Given the description of an element on the screen output the (x, y) to click on. 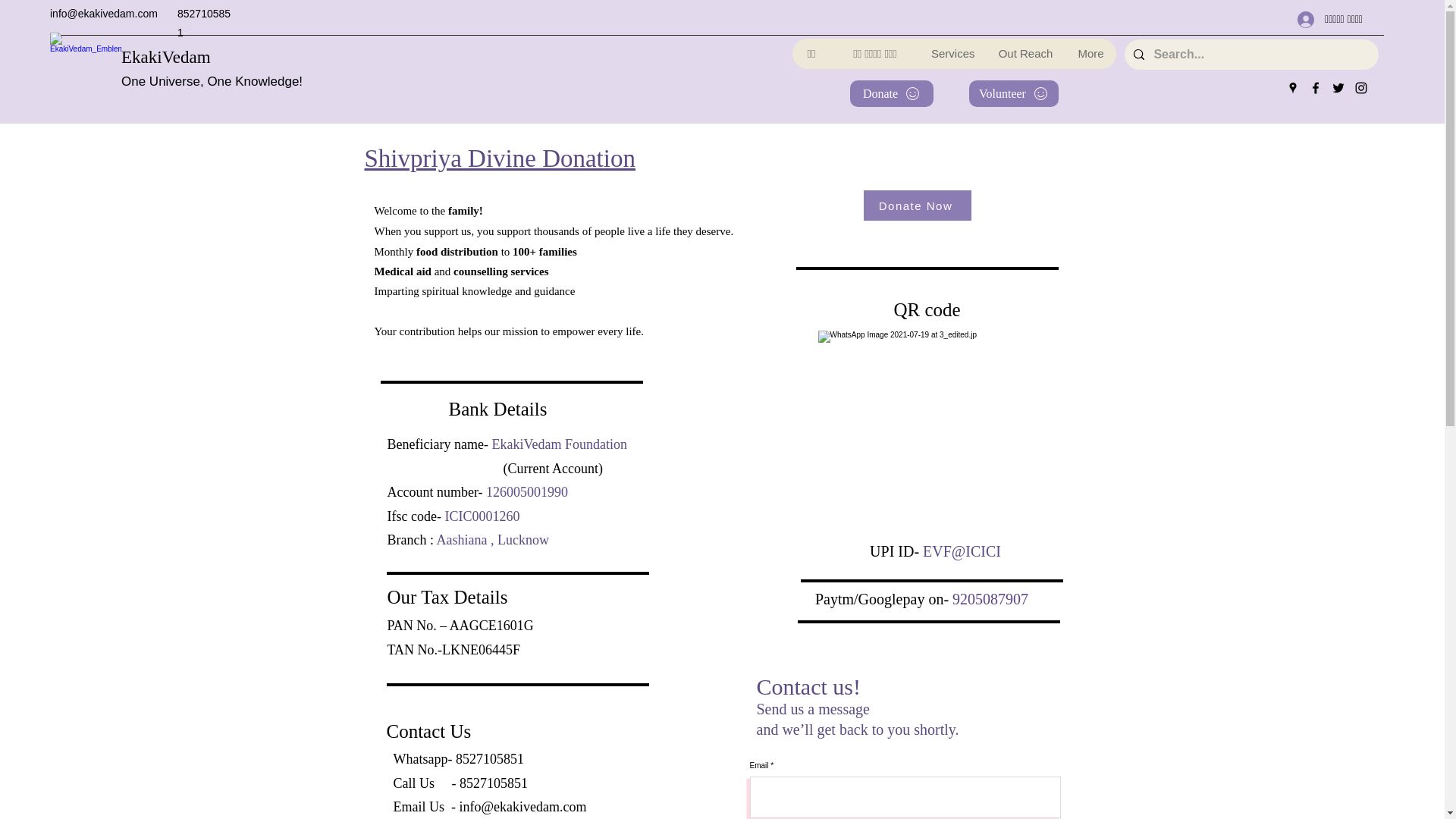
EkakiVedam (165, 56)
Out Reach (1024, 53)
Services (951, 53)
